Given the description of an element on the screen output the (x, y) to click on. 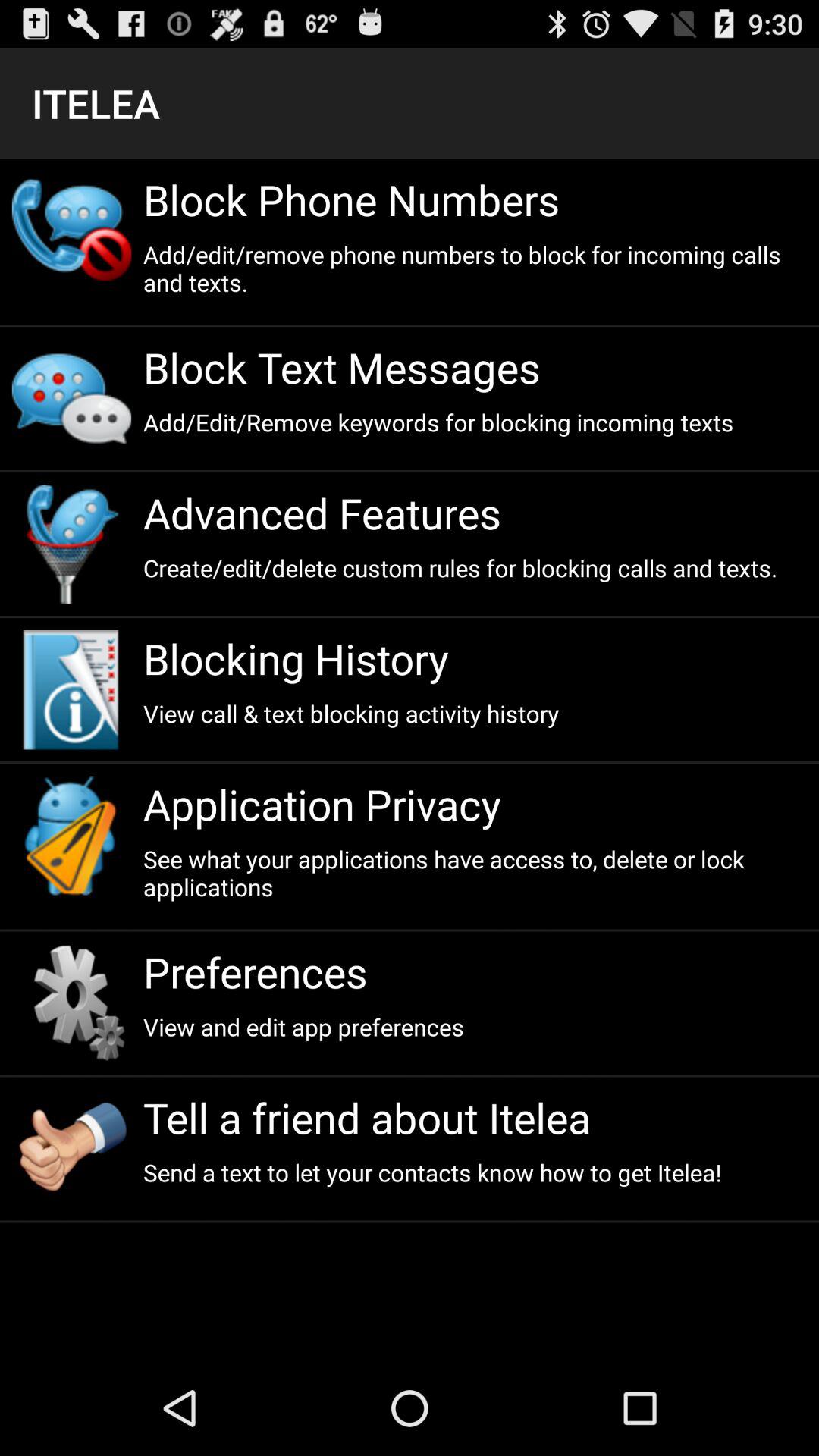
select item above see what your app (475, 803)
